Given the description of an element on the screen output the (x, y) to click on. 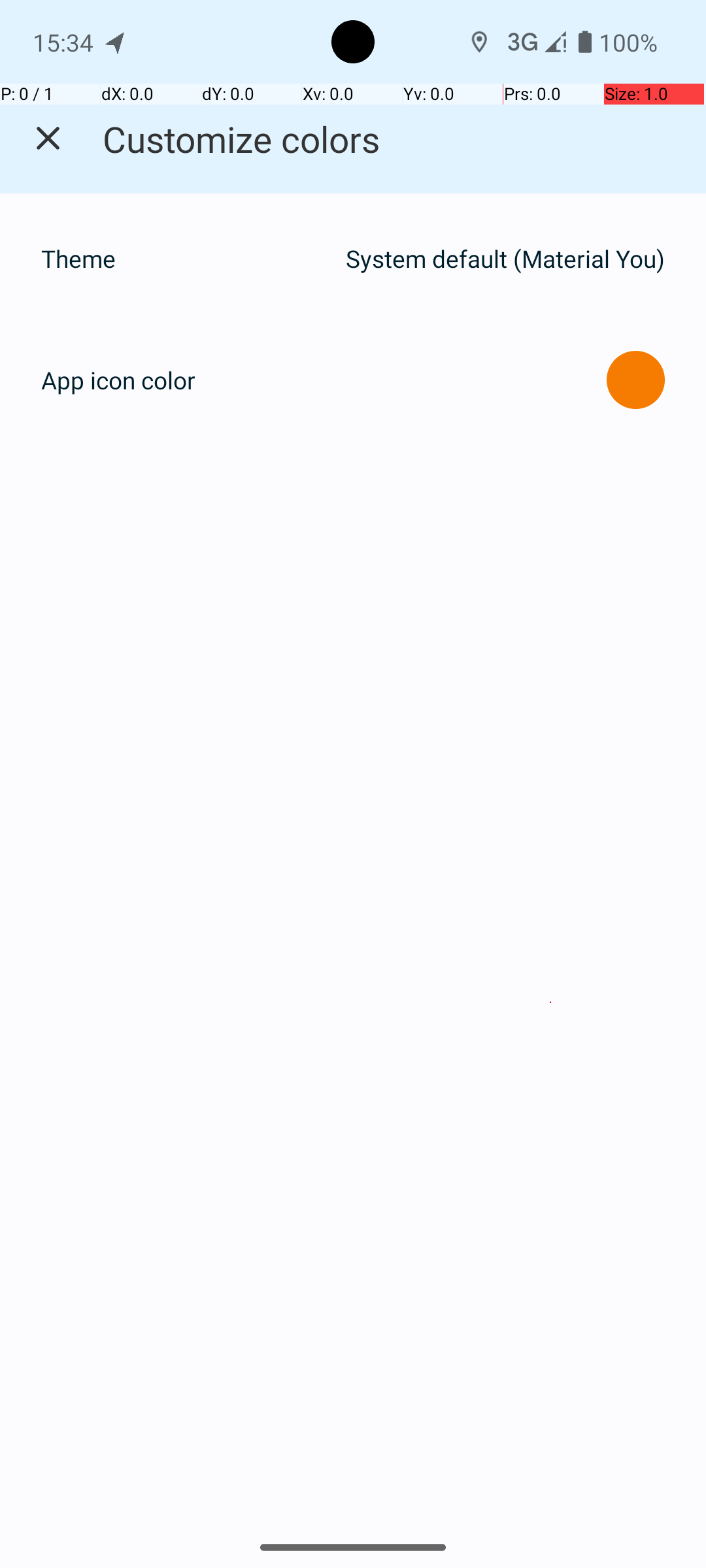
System default (Material You) Element type: android.widget.TextView (504, 258)
App icon color Element type: android.widget.TextView (118, 379)
